Given the description of an element on the screen output the (x, y) to click on. 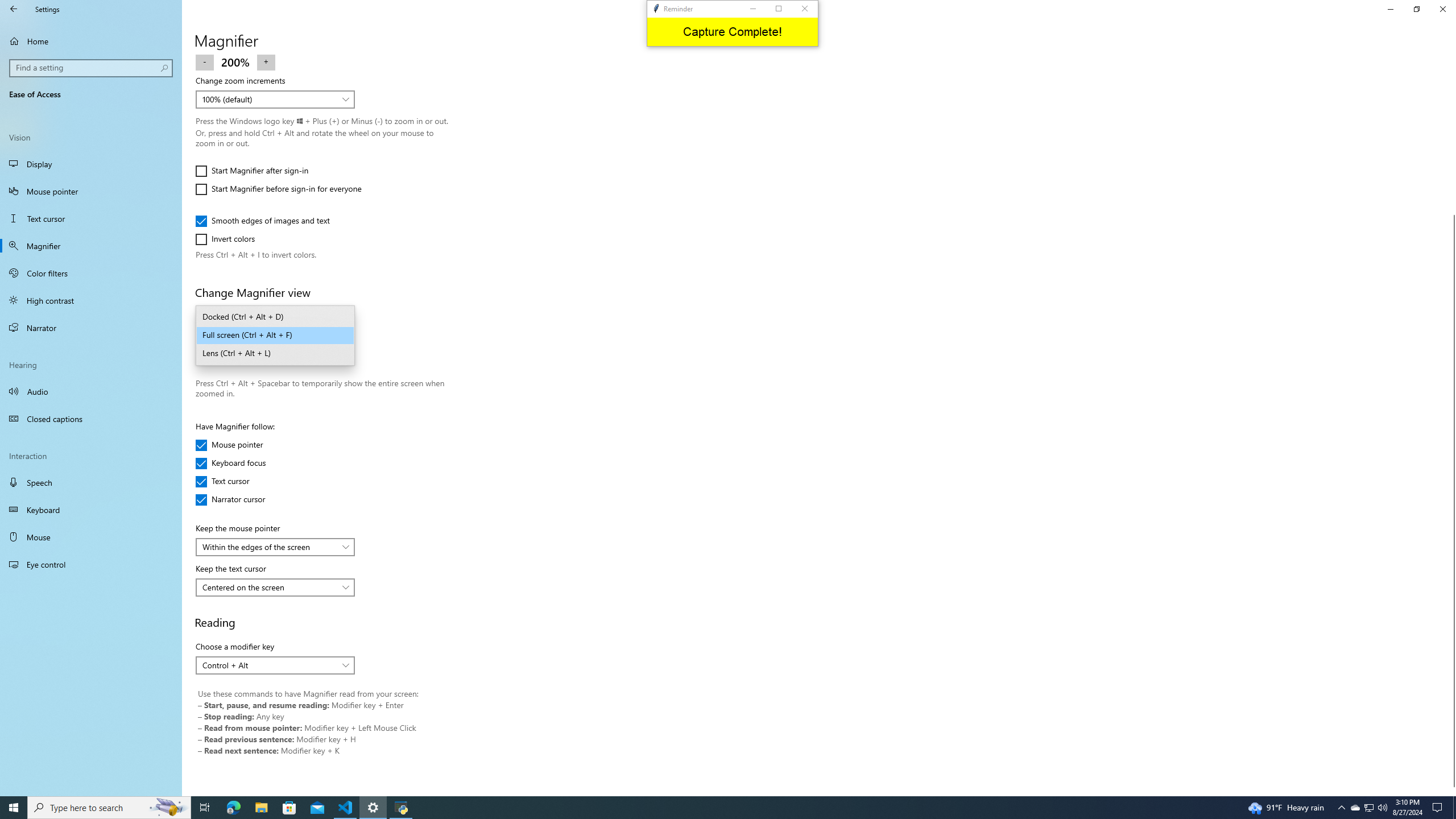
Control + Alt (269, 665)
Search box, Find a setting (91, 67)
High contrast (91, 299)
Restore Settings (1416, 9)
Eye control (91, 564)
Start Magnifier after sign-in (251, 171)
Make everything on my computer bigger (267, 13)
Mouse (91, 536)
Minimize Settings (1390, 9)
Running applications (717, 807)
Keyboard focus (230, 463)
Zoom in (266, 61)
Invert colors (229, 239)
